Given the description of an element on the screen output the (x, y) to click on. 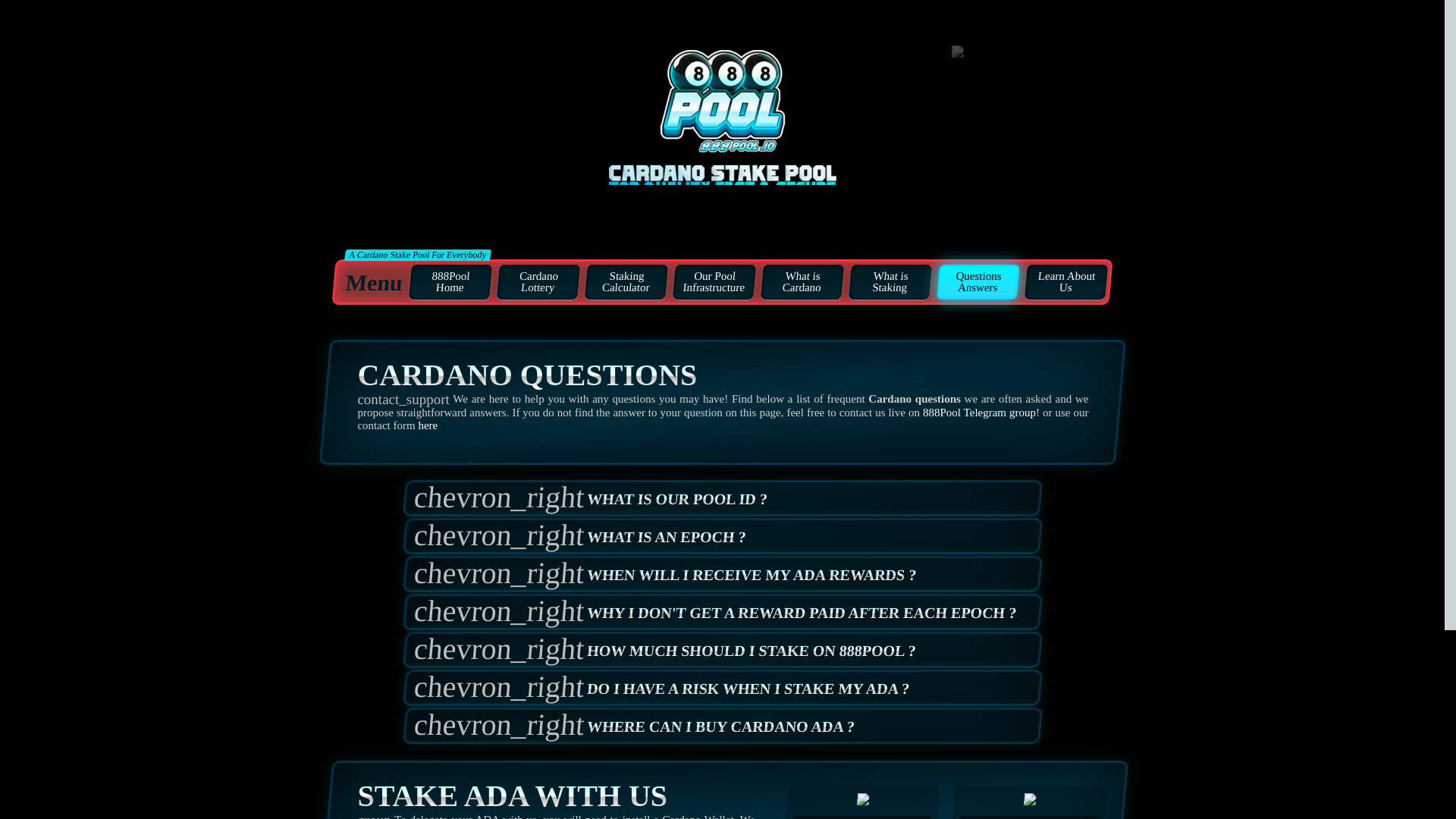
What is Cardano (800, 281)
Learn About Us (1065, 281)
What is Staking (888, 281)
Staking Calculator (625, 281)
888Pool Home (449, 281)
Our Pool Infrastructure (712, 281)
Cardano Lottery (536, 281)
